Given the description of an element on the screen output the (x, y) to click on. 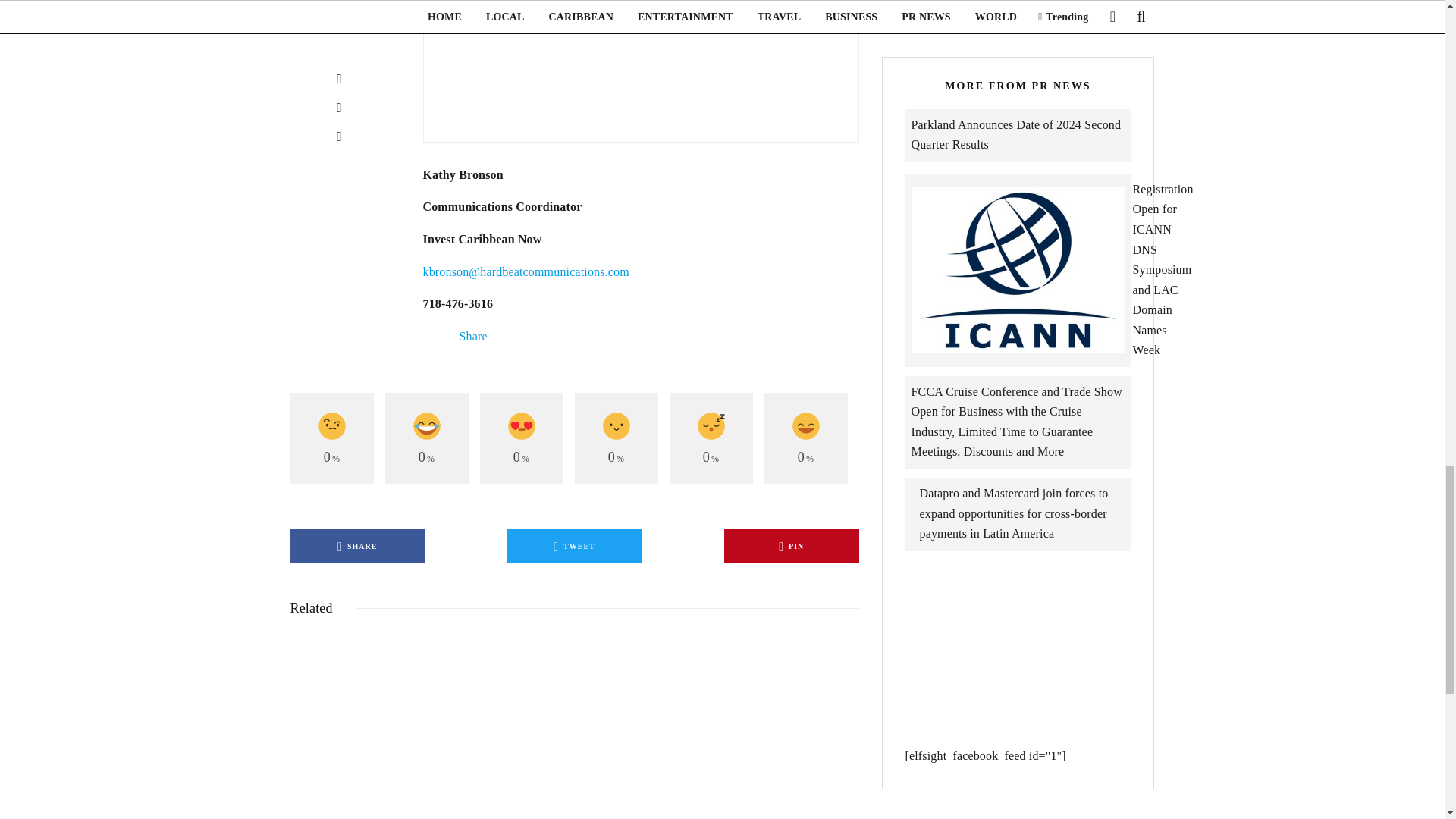
Twitter (440, 336)
Facebook (429, 336)
